Given the description of an element on the screen output the (x, y) to click on. 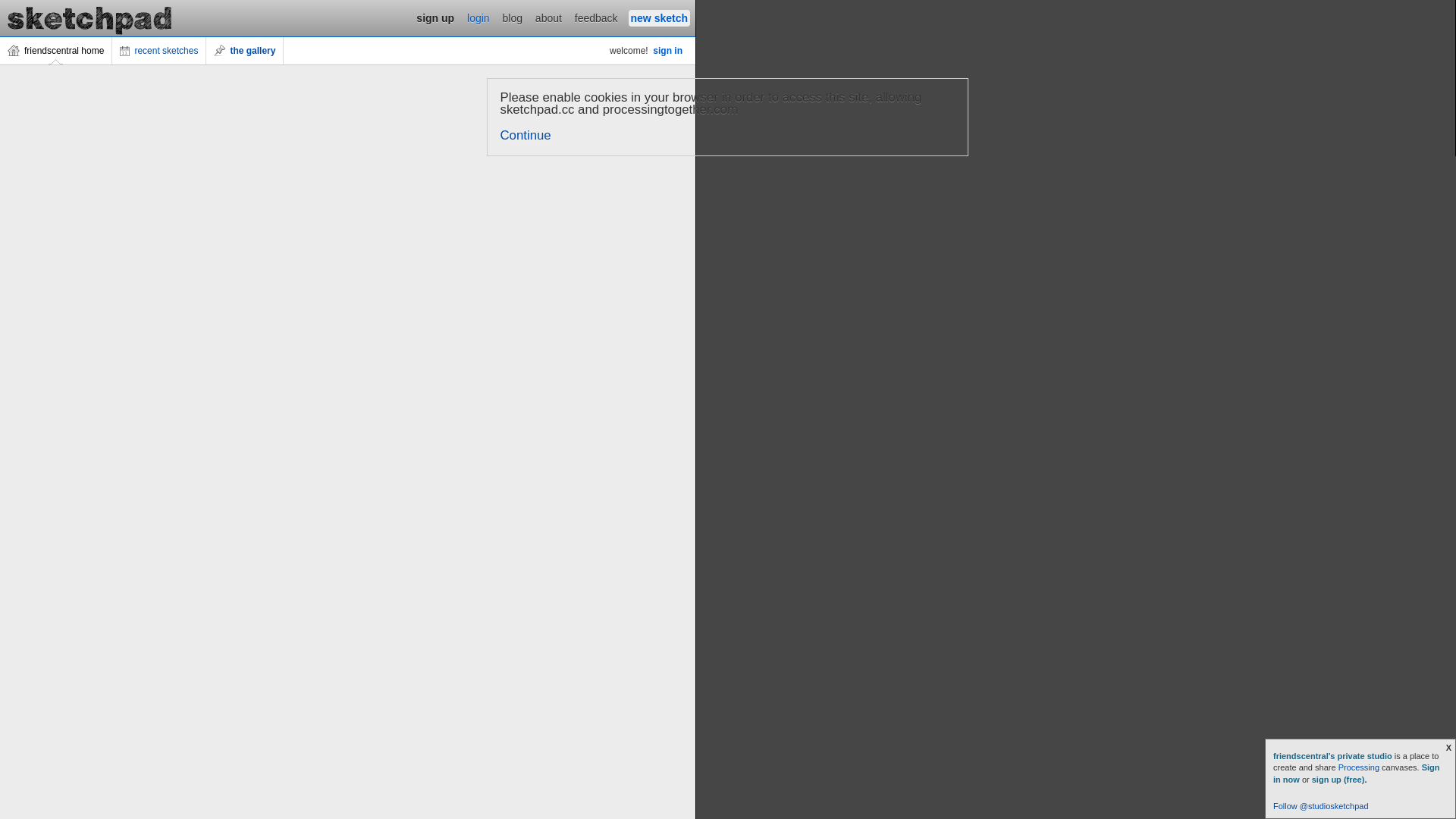
the gallery Element type: text (244, 50)
friendscentral home Element type: text (56, 50)
friendscentral's private studio Element type: text (1333, 755)
login Element type: text (478, 17)
Follow @studiosketchpad Element type: text (1320, 805)
sign up Element type: text (435, 17)
sign in Element type: text (667, 50)
Processing Element type: text (1358, 766)
new sketch Element type: text (659, 17)
Studio Sketchpad is Processing on Etherpad Element type: hover (90, 18)
Continue Element type: text (525, 135)
recent sketches Element type: text (159, 50)
blog Element type: text (512, 17)
sign up (free) Element type: text (1338, 779)
Sign in now Element type: text (1356, 772)
feedback Element type: text (596, 17)
about Element type: text (548, 17)
